Given the description of an element on the screen output the (x, y) to click on. 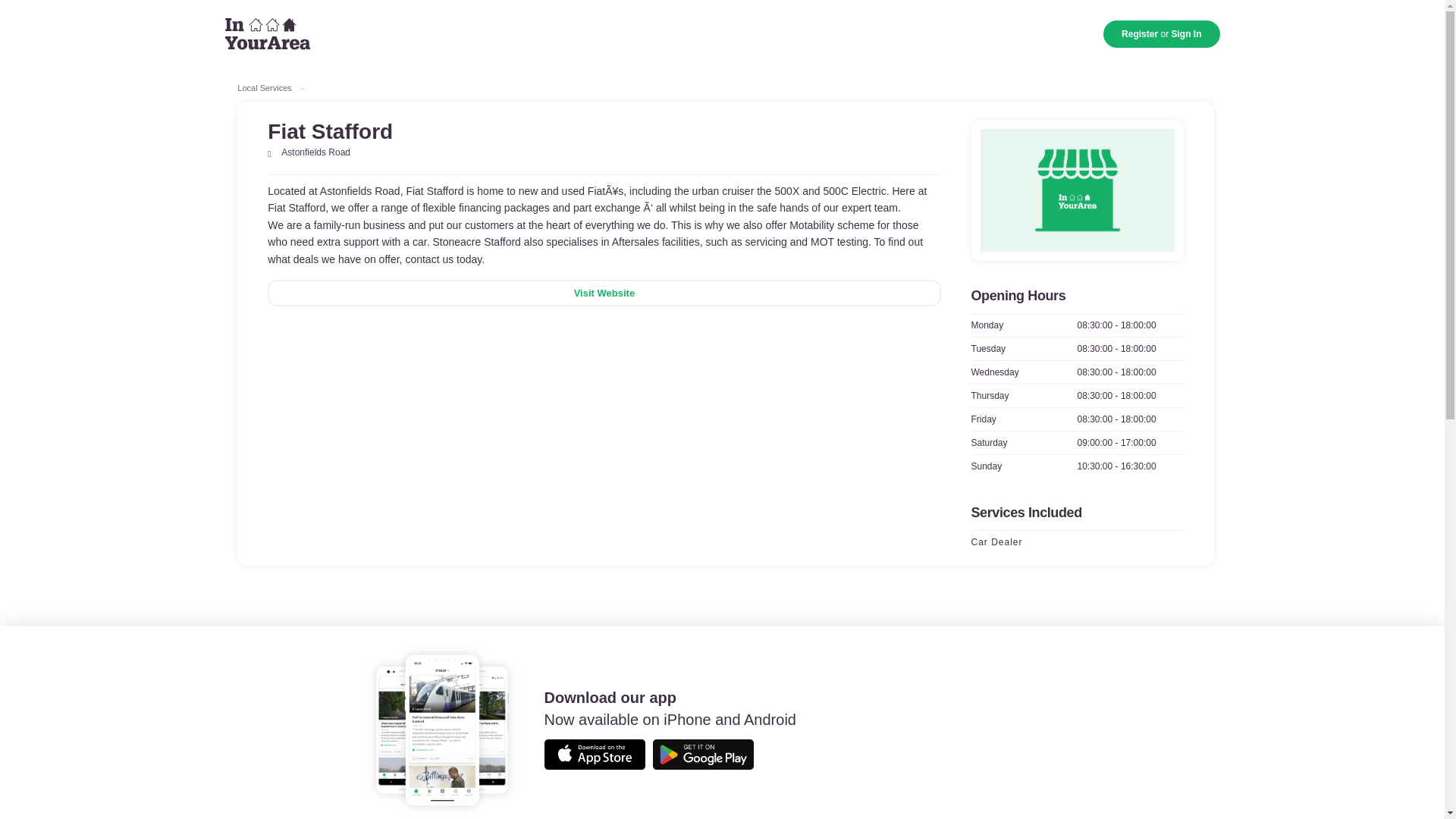
Register or Sign In (1161, 33)
Get it on Google Play (703, 754)
Available on the AppStore (594, 754)
Local Services (264, 87)
Visit Website (603, 293)
